Given the description of an element on the screen output the (x, y) to click on. 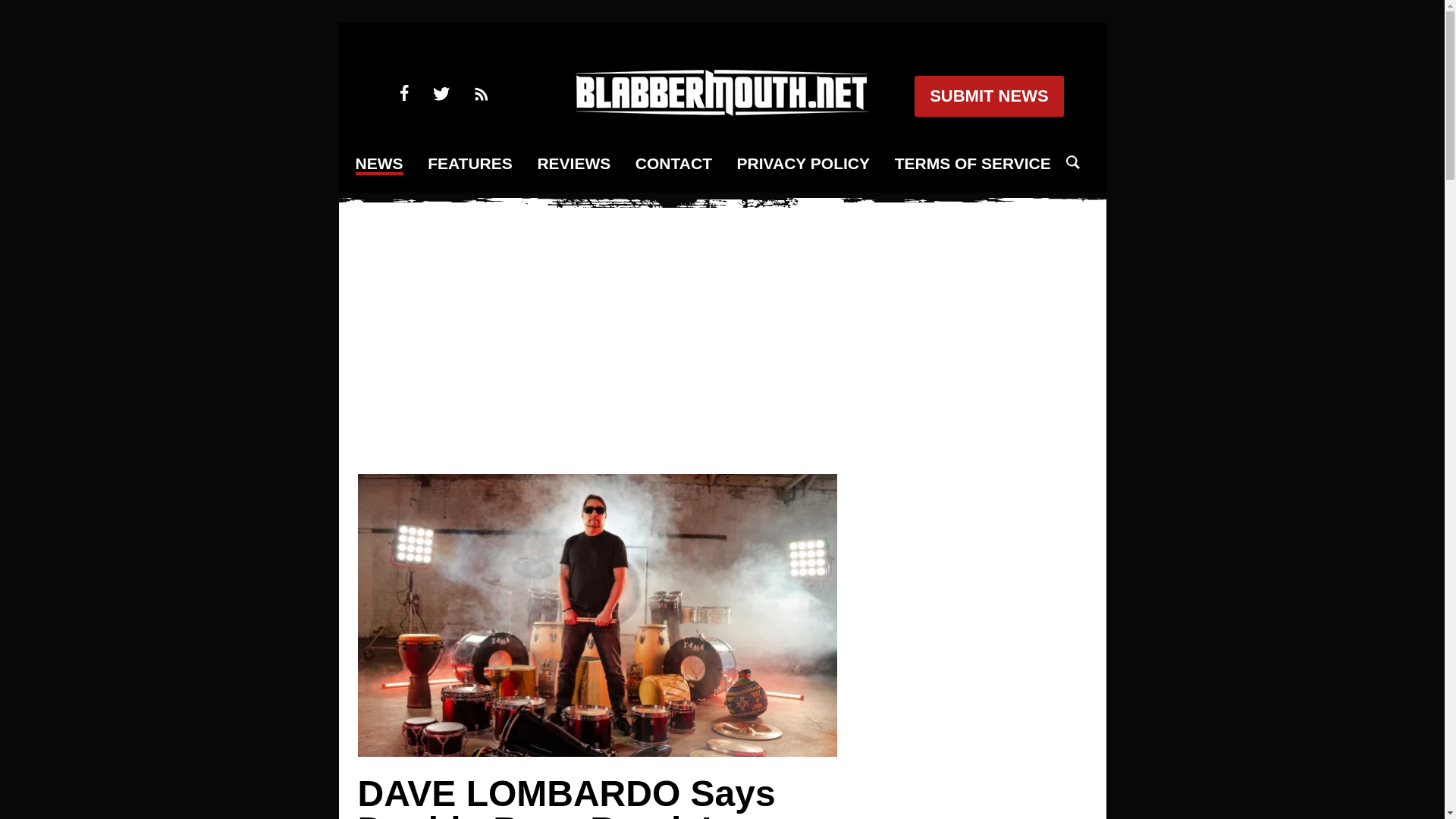
search icon (1072, 161)
NEWS (379, 164)
REVIEWS (573, 163)
TERMS OF SERVICE (973, 163)
CONTACT (672, 163)
blabbermouth (721, 110)
FEATURES (470, 163)
PRIVACY POLICY (802, 163)
SUBMIT NEWS (988, 96)
